Given the description of an element on the screen output the (x, y) to click on. 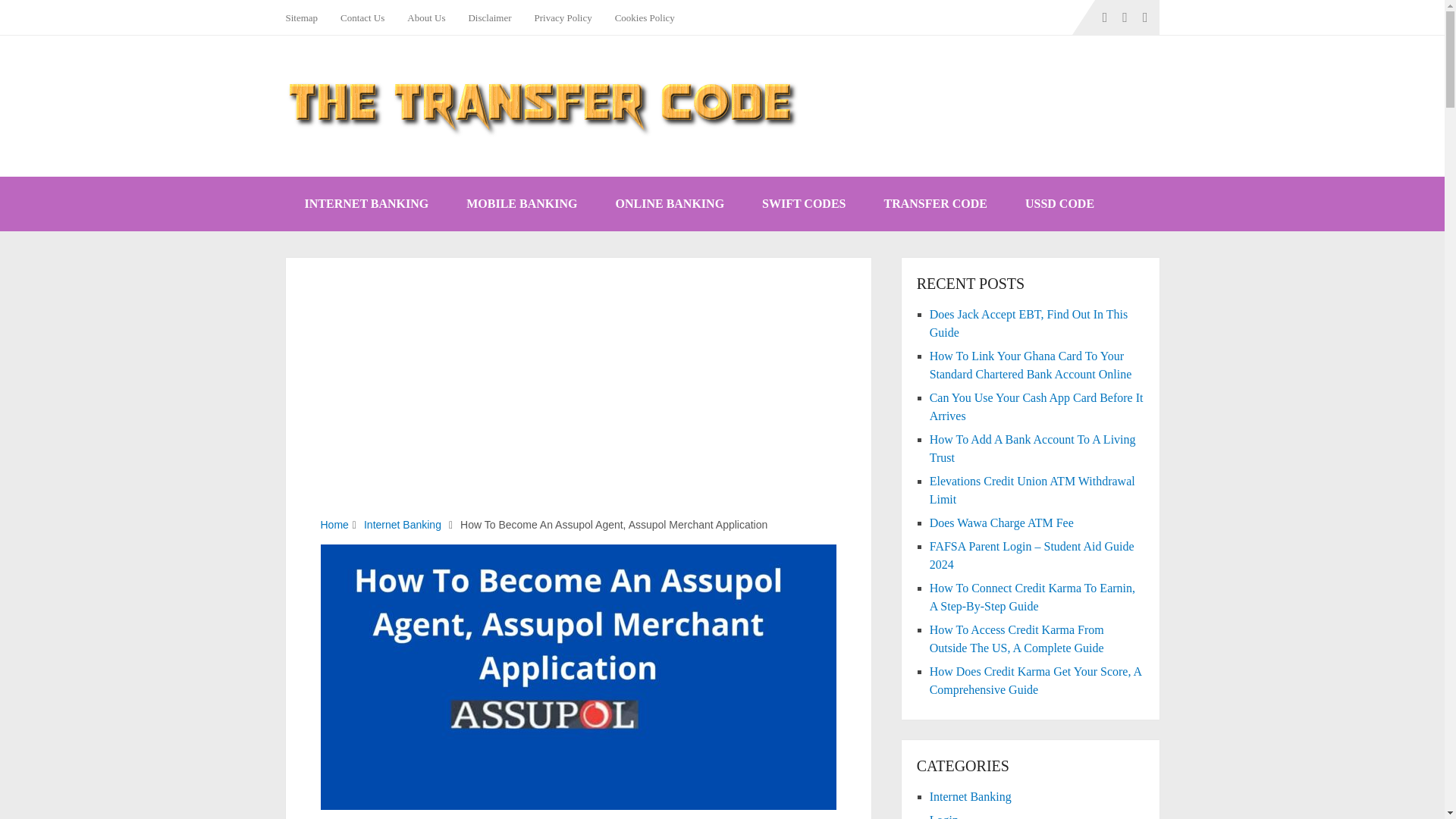
SWIFT CODES (803, 203)
Internet Banking (402, 524)
Sitemap (307, 17)
USSD CODE (1059, 203)
Contact Us (362, 17)
INTERNET BANKING (365, 203)
Home (333, 524)
Cookies Policy (644, 17)
Privacy Policy (563, 17)
TRANSFER CODE (935, 203)
Disclaimer (489, 17)
MOBILE BANKING (520, 203)
About Us (426, 17)
ONLINE BANKING (668, 203)
